Given the description of an element on the screen output the (x, y) to click on. 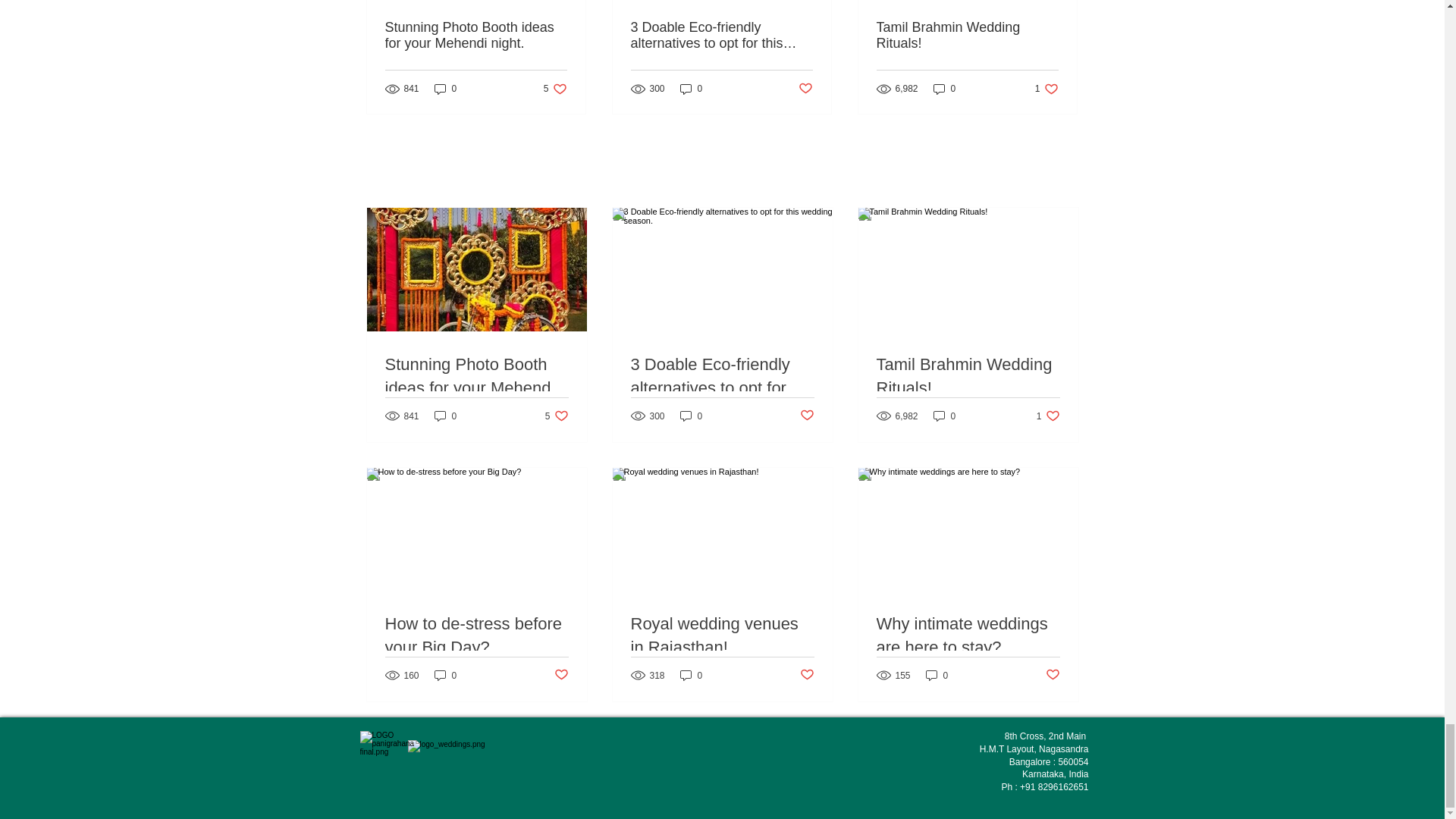
Tamil Brahmin Wedding Rituals! (967, 376)
Post not marked as liked (804, 89)
Tamil Brahmin Wedding Rituals! (1046, 88)
0 (967, 35)
Stunning Photo Booth ideas for your Mehendi night. (937, 675)
0 (477, 376)
0 (445, 675)
0 (691, 415)
Post not marked as liked (944, 415)
0 (1052, 675)
Why intimate weddings are here to stay? (944, 88)
0 (967, 636)
